Given the description of an element on the screen output the (x, y) to click on. 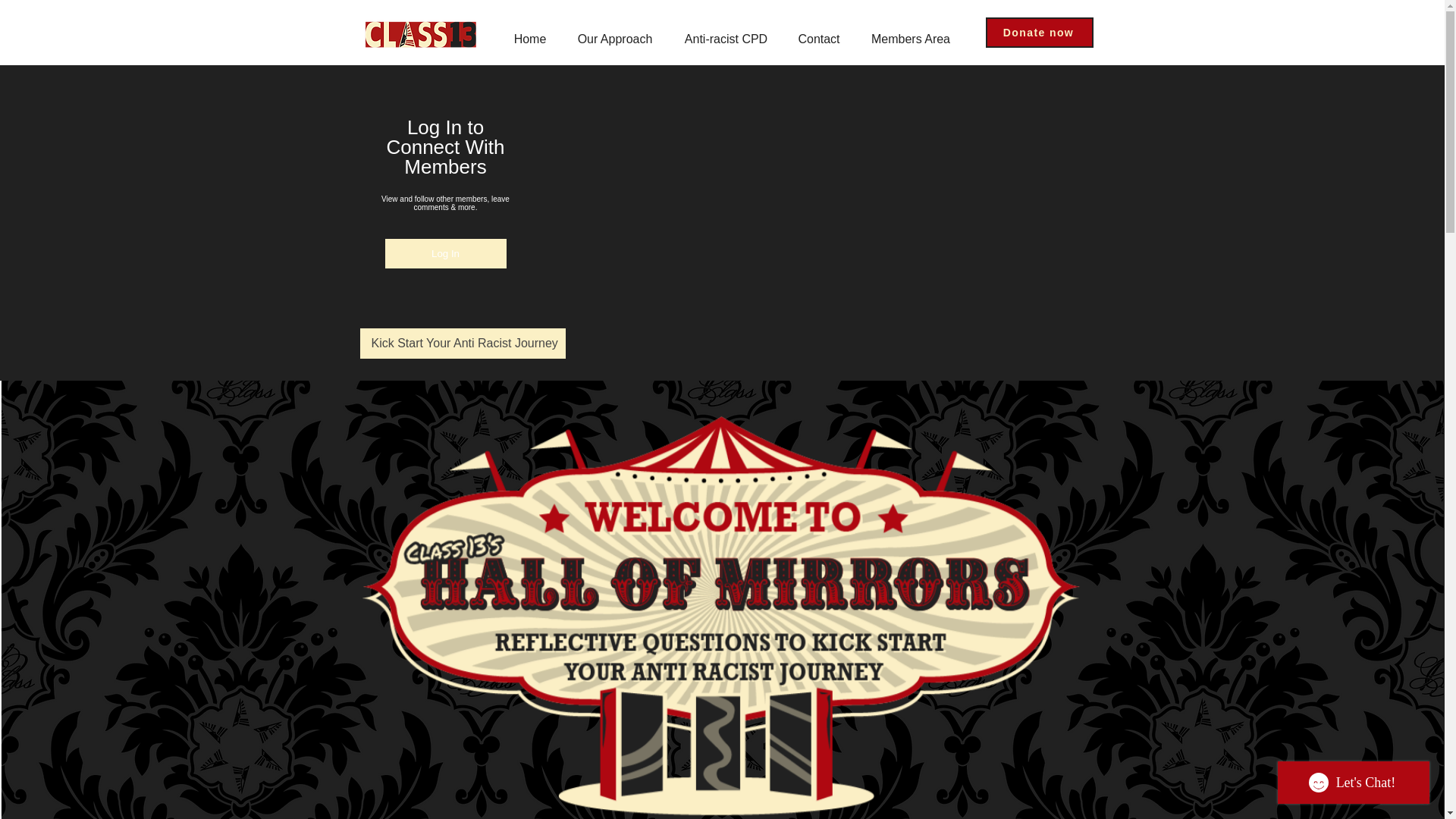
Donate now (1039, 32)
Our Approach (614, 32)
Contact (818, 32)
Home (529, 32)
Anti-racist CPD (725, 32)
Kick Start Your Anti Racist Journey (461, 343)
Members Area (911, 32)
Log In (445, 253)
